Given the description of an element on the screen output the (x, y) to click on. 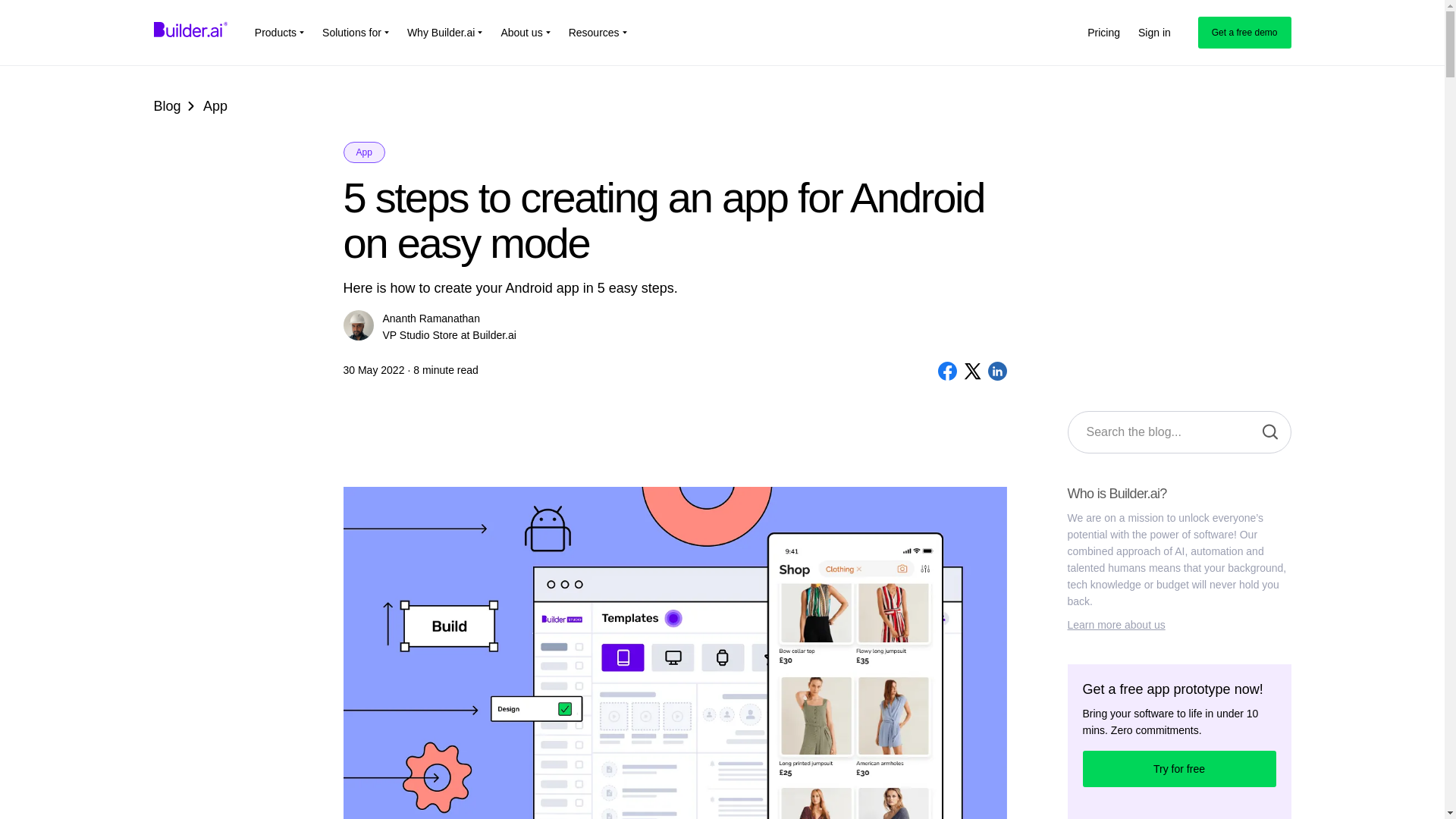
Blog (166, 106)
App (215, 106)
App (363, 151)
Get a free demo (1244, 32)
